Given the description of an element on the screen output the (x, y) to click on. 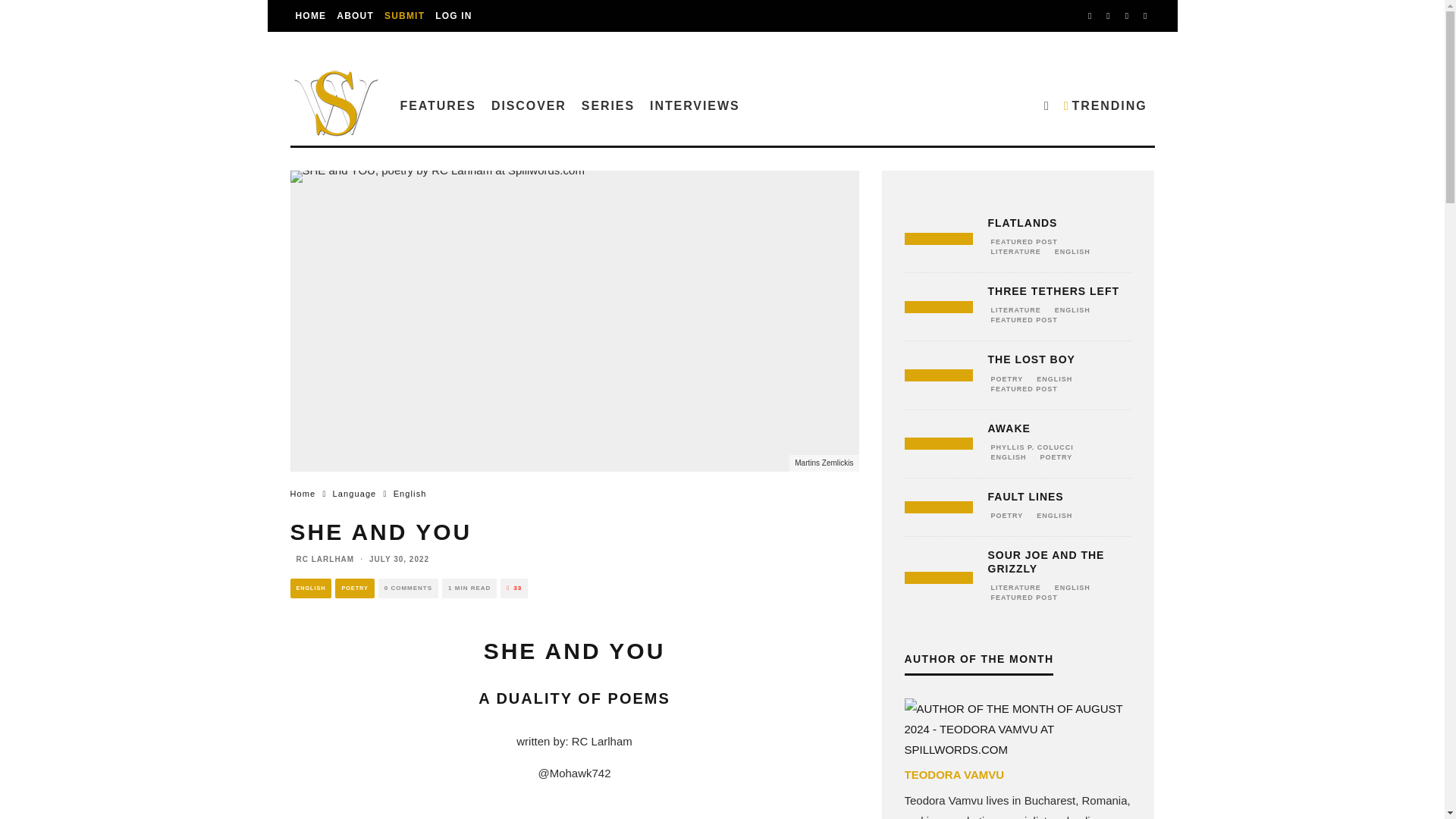
ABOUT (354, 15)
DISCOVER (528, 104)
SUBMIT (403, 15)
HOME (310, 15)
LOG IN (453, 15)
FEATURES (438, 104)
